Given the description of an element on the screen output the (x, y) to click on. 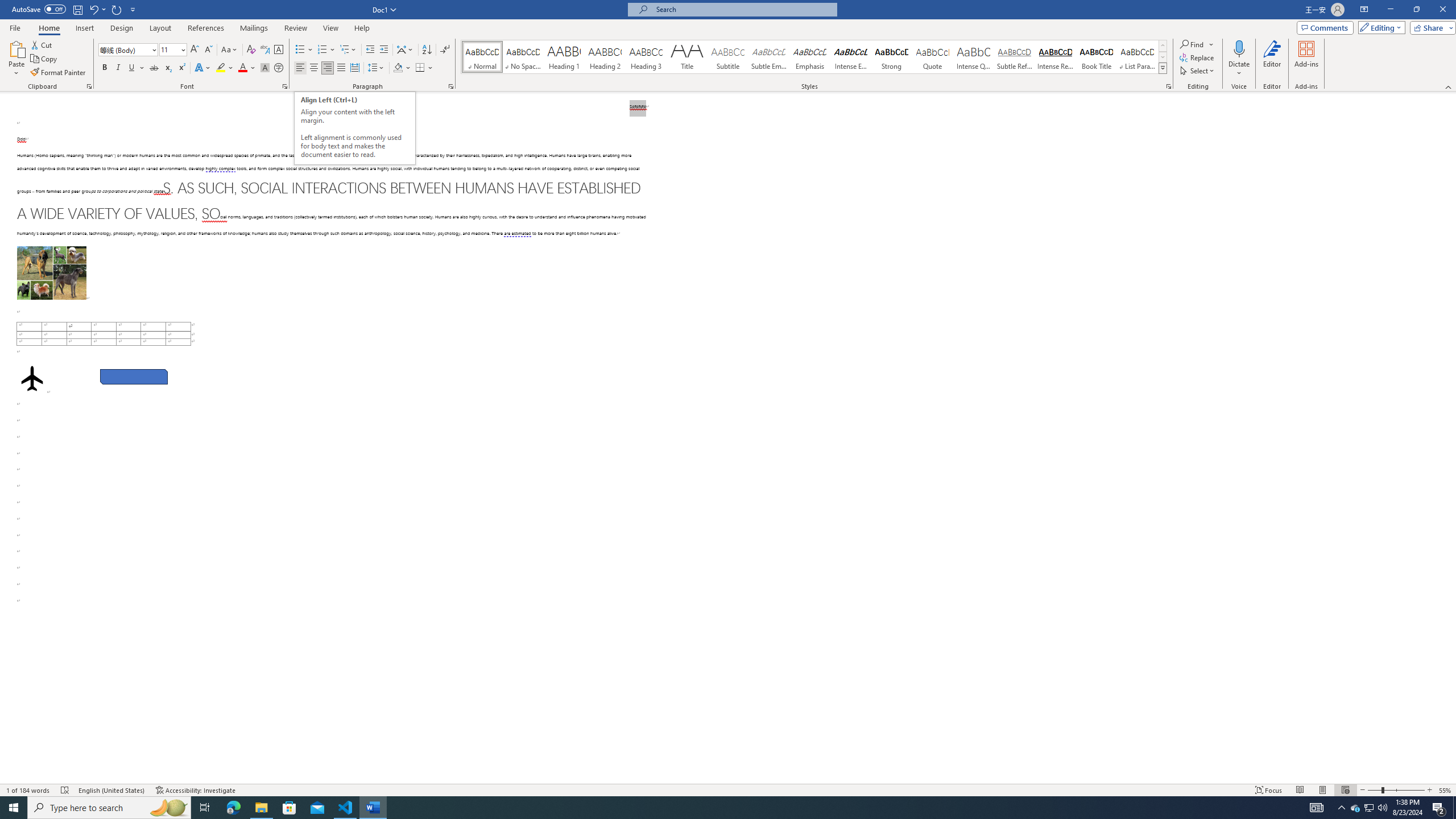
Heading 3 (646, 56)
Word Count 1 of 184 words (28, 790)
Emphasis (809, 56)
